Given the description of an element on the screen output the (x, y) to click on. 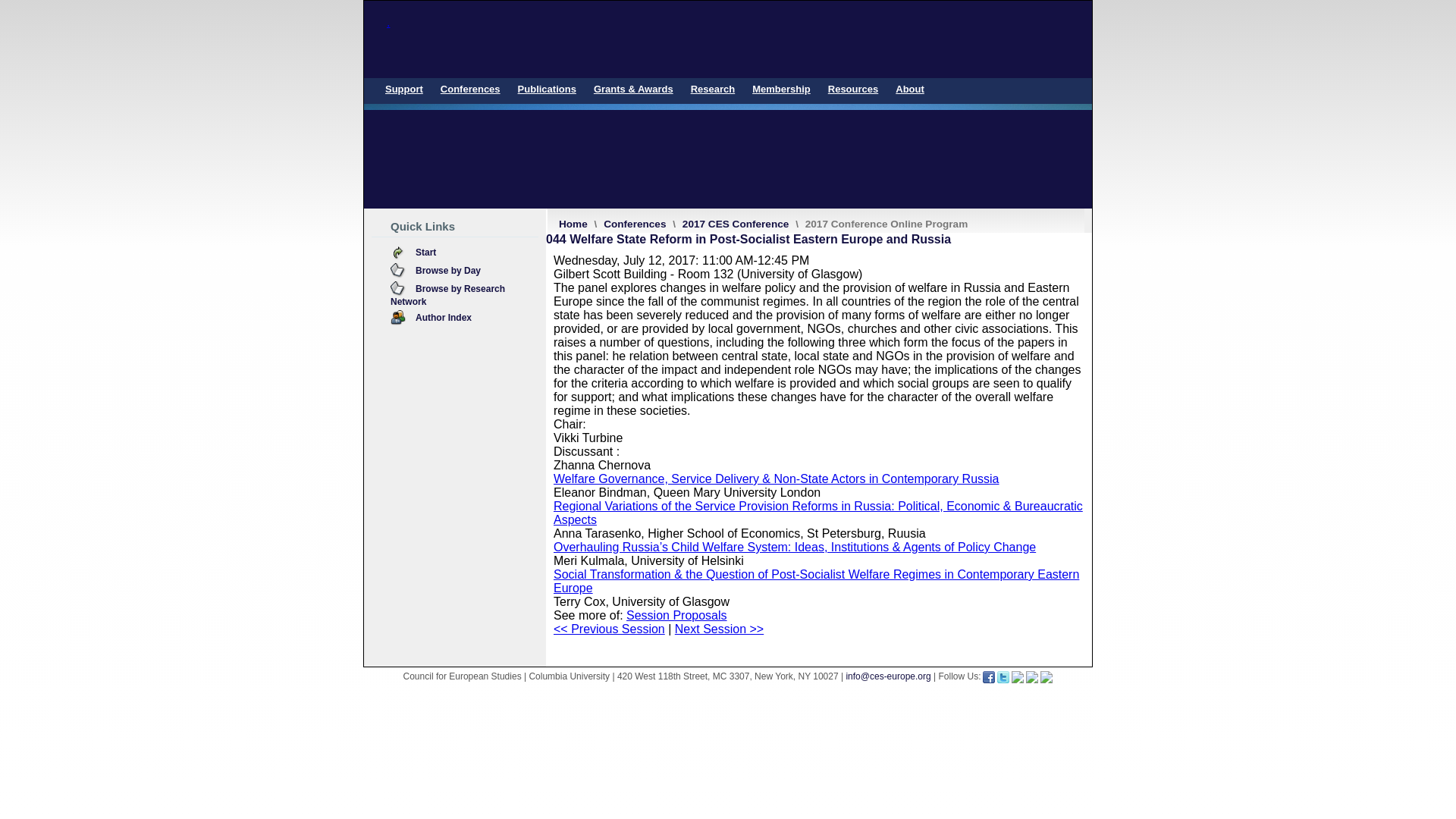
Conferences (470, 88)
Support (403, 88)
Publications (547, 88)
Research (712, 88)
. (728, 38)
